Given the description of an element on the screen output the (x, y) to click on. 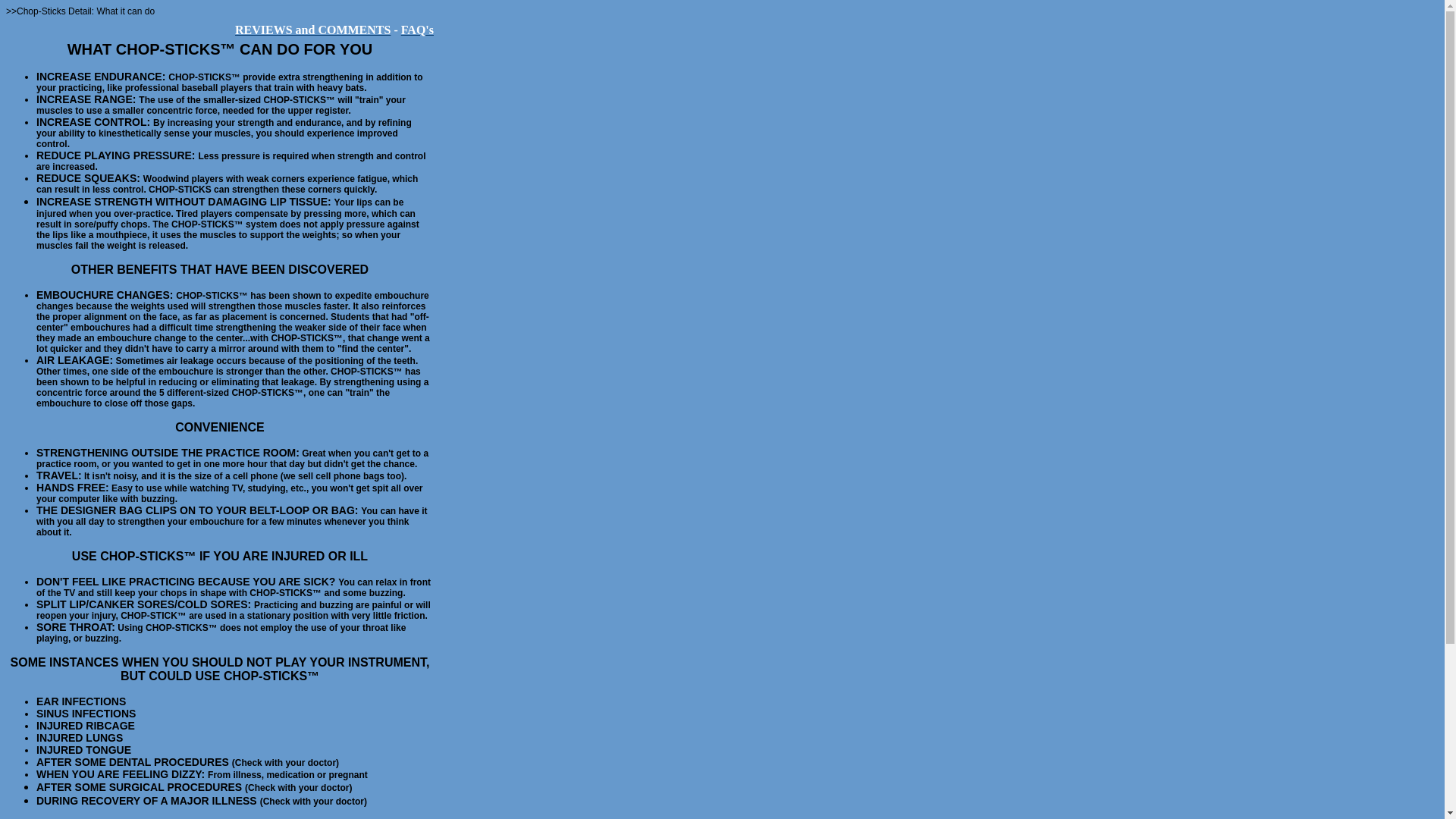
FAQ's (417, 29)
REVIEWS and COMMENTS (312, 29)
